Given the description of an element on the screen output the (x, y) to click on. 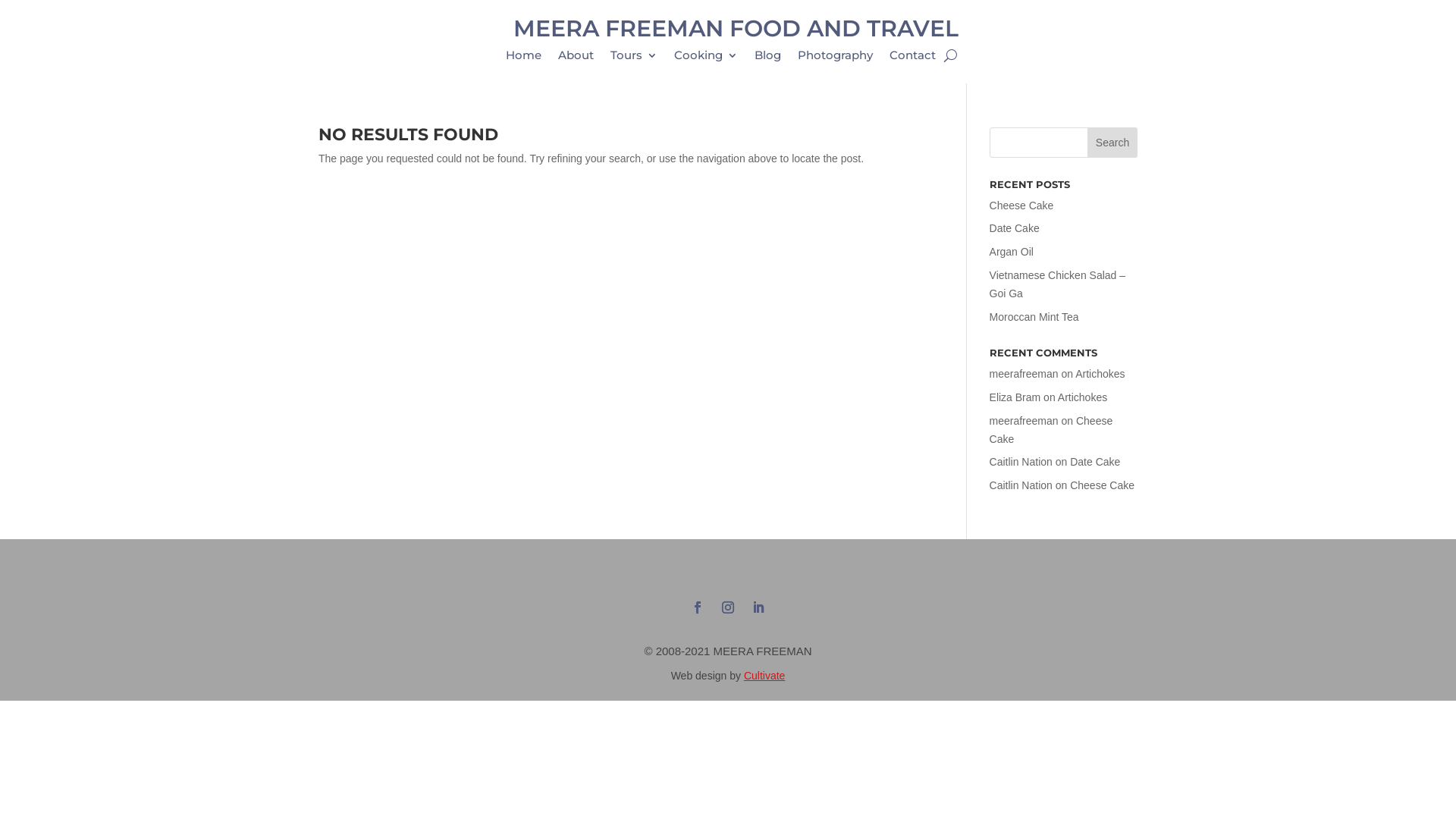
Photography Element type: text (834, 58)
Date Cake Element type: text (1095, 461)
Artichokes Element type: text (1082, 397)
Date Cake Element type: text (1014, 228)
Follow on Instagram Element type: hover (727, 607)
Follow on Facebook Element type: hover (697, 607)
Contact Element type: text (912, 58)
Cheese Cake Element type: text (1021, 205)
Eliza Bram Element type: text (1015, 397)
Cheese Cake Element type: text (1051, 429)
Search Element type: text (1112, 142)
Tours Element type: text (633, 58)
Cheese Cake Element type: text (1102, 485)
Artichokes Element type: text (1099, 373)
Cultivate Element type: text (763, 675)
Follow on LinkedIn Element type: hover (758, 607)
Argan Oil Element type: text (1011, 251)
meerafreeman Element type: text (1023, 420)
About Element type: text (575, 58)
Blog Element type: text (767, 58)
meerafreeman Element type: text (1023, 373)
Cooking Element type: text (705, 58)
Moroccan Mint Tea Element type: text (1034, 316)
Home Element type: text (523, 58)
